Given the description of an element on the screen output the (x, y) to click on. 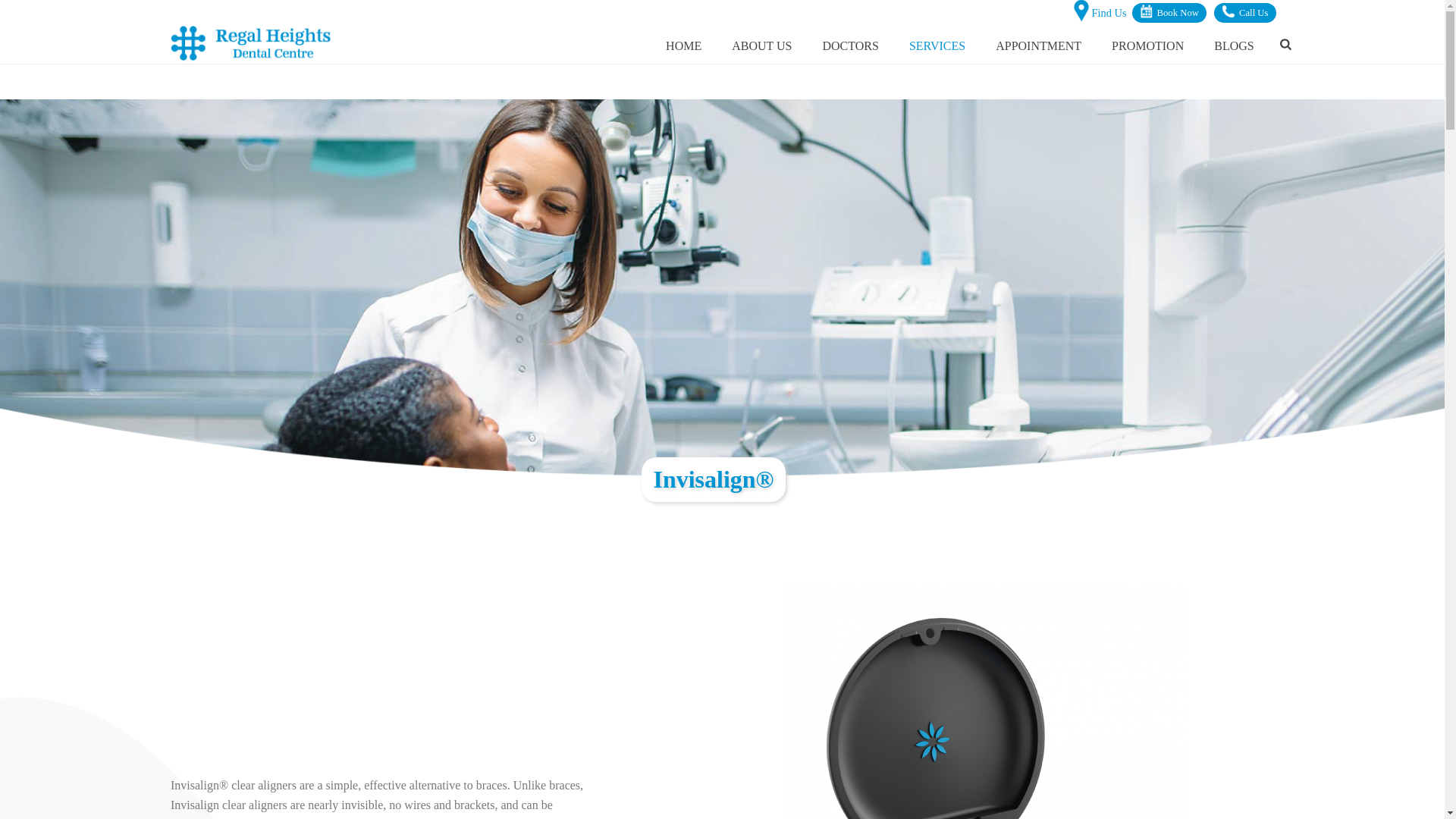
BLOGS (1233, 44)
SERVICES (936, 44)
A comprehensive approach to complete dentistry (249, 44)
Find Us (1098, 13)
HOME (683, 44)
Book Now (1168, 16)
HOME (683, 44)
APPOINTMENT (1037, 44)
SERVICES (936, 44)
PROMOTION (1147, 44)
Call Us (1245, 16)
APPOINTMENT (1037, 44)
DOCTORS (849, 44)
DOCTORS (849, 44)
PROMOTION (1147, 44)
